Given the description of an element on the screen output the (x, y) to click on. 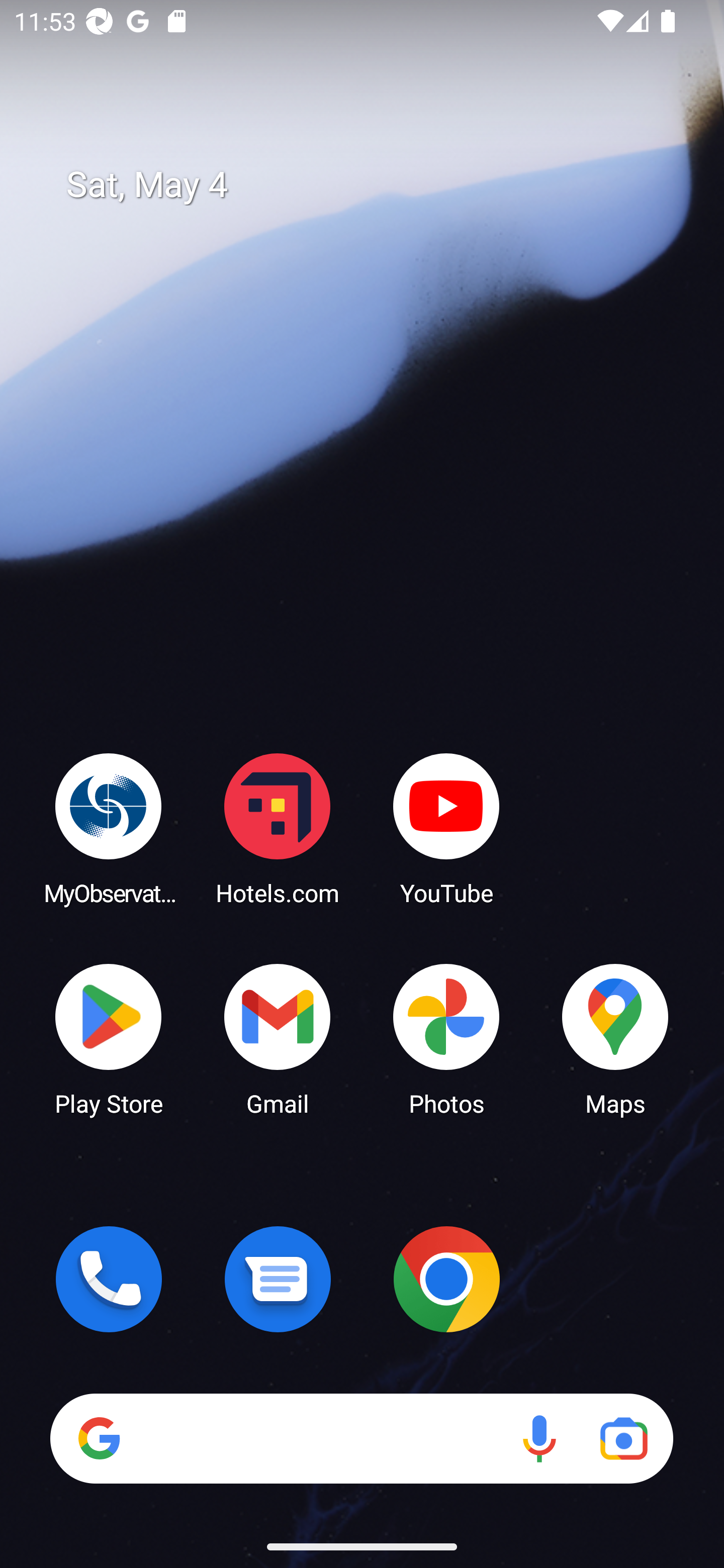
Sat, May 4 (375, 184)
MyObservatory (108, 828)
Hotels.com (277, 828)
YouTube (445, 828)
Play Store (108, 1038)
Gmail (277, 1038)
Photos (445, 1038)
Maps (615, 1038)
Phone (108, 1279)
Messages (277, 1279)
Chrome (446, 1279)
Search Voice search Google Lens (361, 1438)
Voice search (539, 1438)
Google Lens (623, 1438)
